Given the description of an element on the screen output the (x, y) to click on. 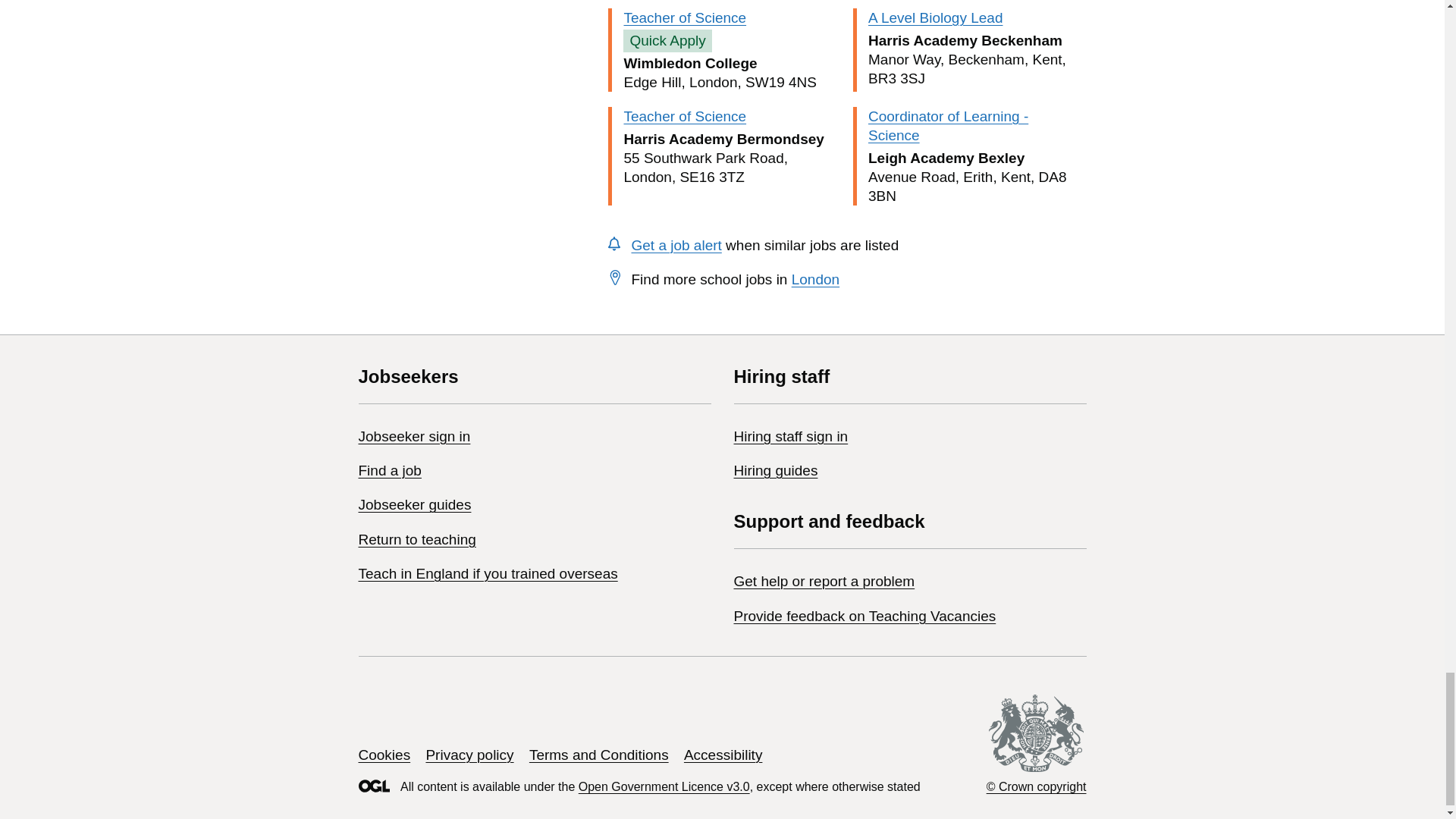
Teacher of Science (684, 116)
Coordinator of Learning - Science (947, 125)
Get a job alert (675, 245)
Return to teaching (417, 539)
Jobseeker guides (414, 504)
A Level Biology Lead (935, 17)
Teacher of Science (684, 17)
London (816, 279)
Jobseeker sign in (414, 436)
Find a job (389, 470)
